Given the description of an element on the screen output the (x, y) to click on. 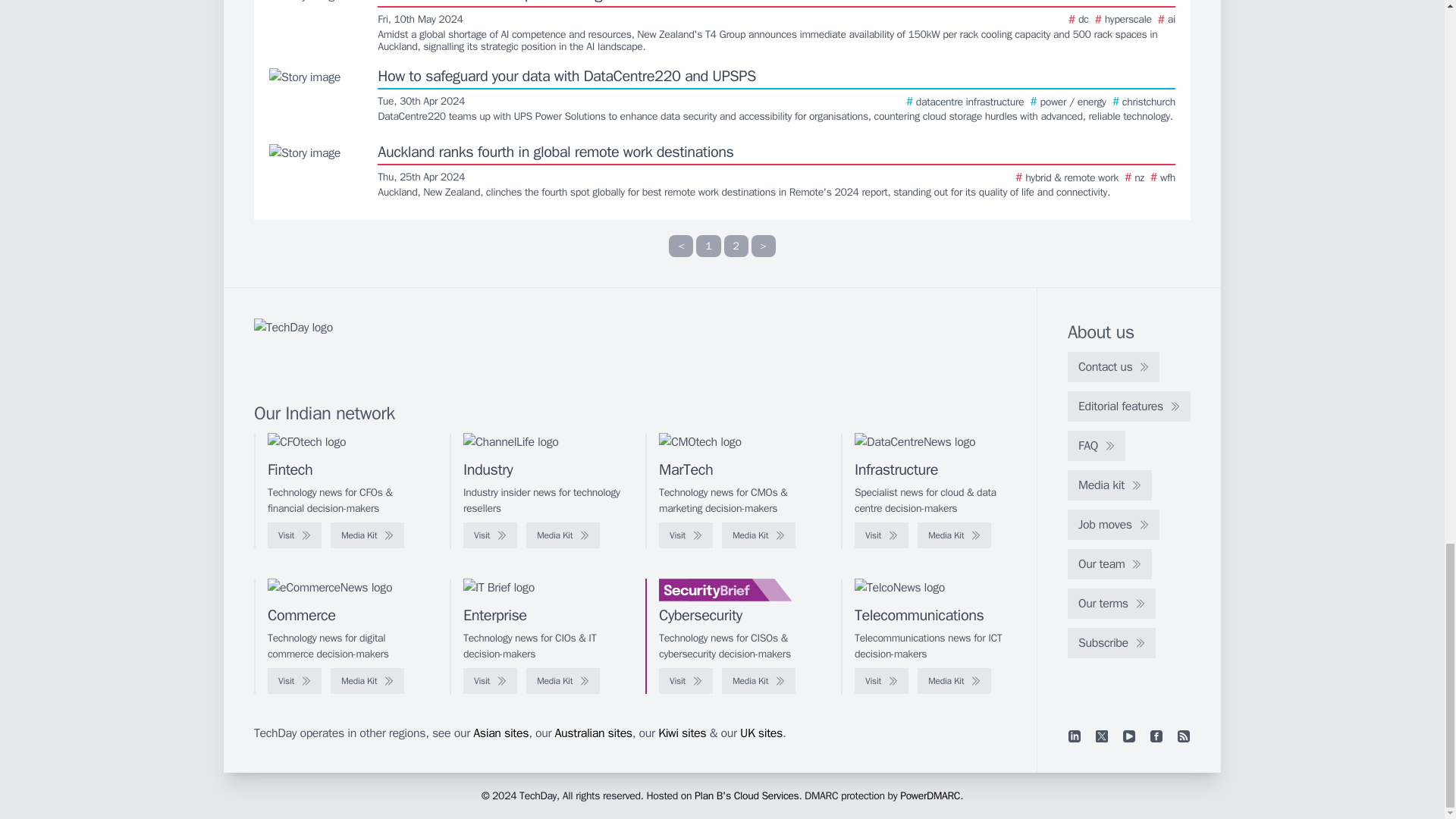
Media Kit (562, 534)
Visit (294, 534)
Media Kit (367, 534)
1 (707, 246)
2 (735, 246)
Visit (489, 534)
